Given the description of an element on the screen output the (x, y) to click on. 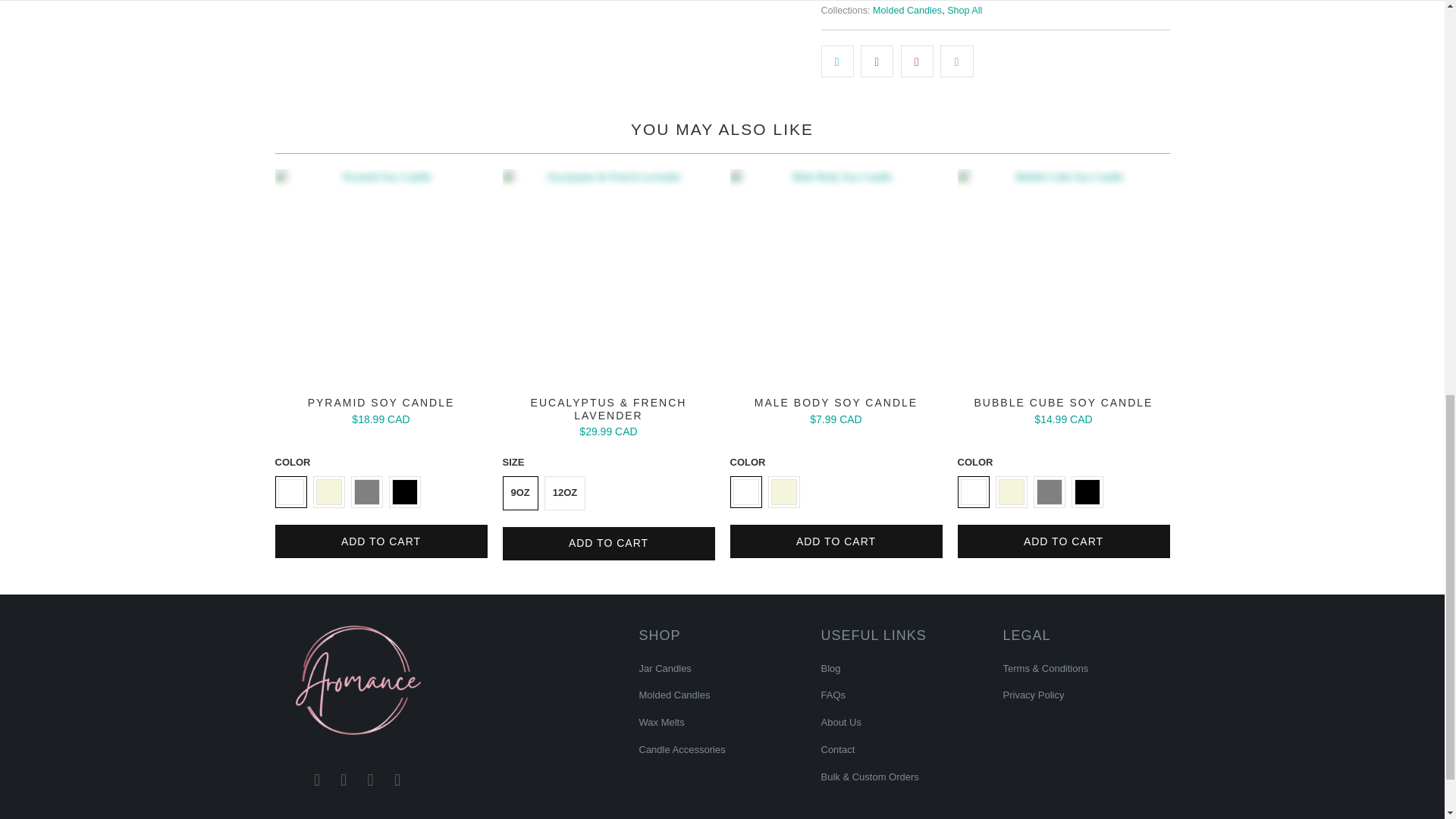
Share this on Facebook (876, 60)
Molded Candles (907, 9)
Shop All (964, 9)
Share this on Twitter (837, 60)
Share this on Pinterest (917, 60)
Email this to a friend (956, 60)
